Given the description of an element on the screen output the (x, y) to click on. 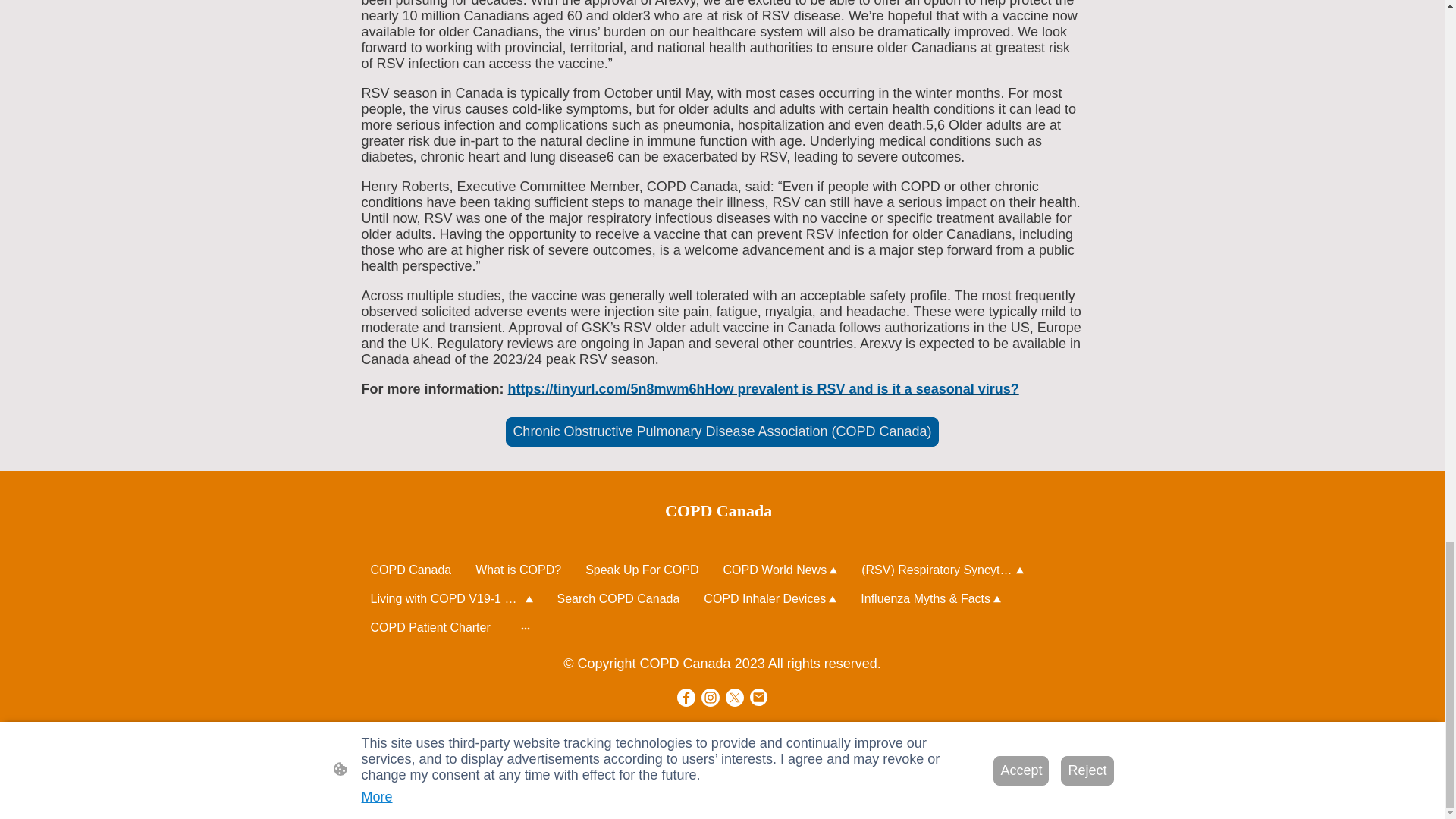
COPD Canada (720, 511)
